Given the description of an element on the screen output the (x, y) to click on. 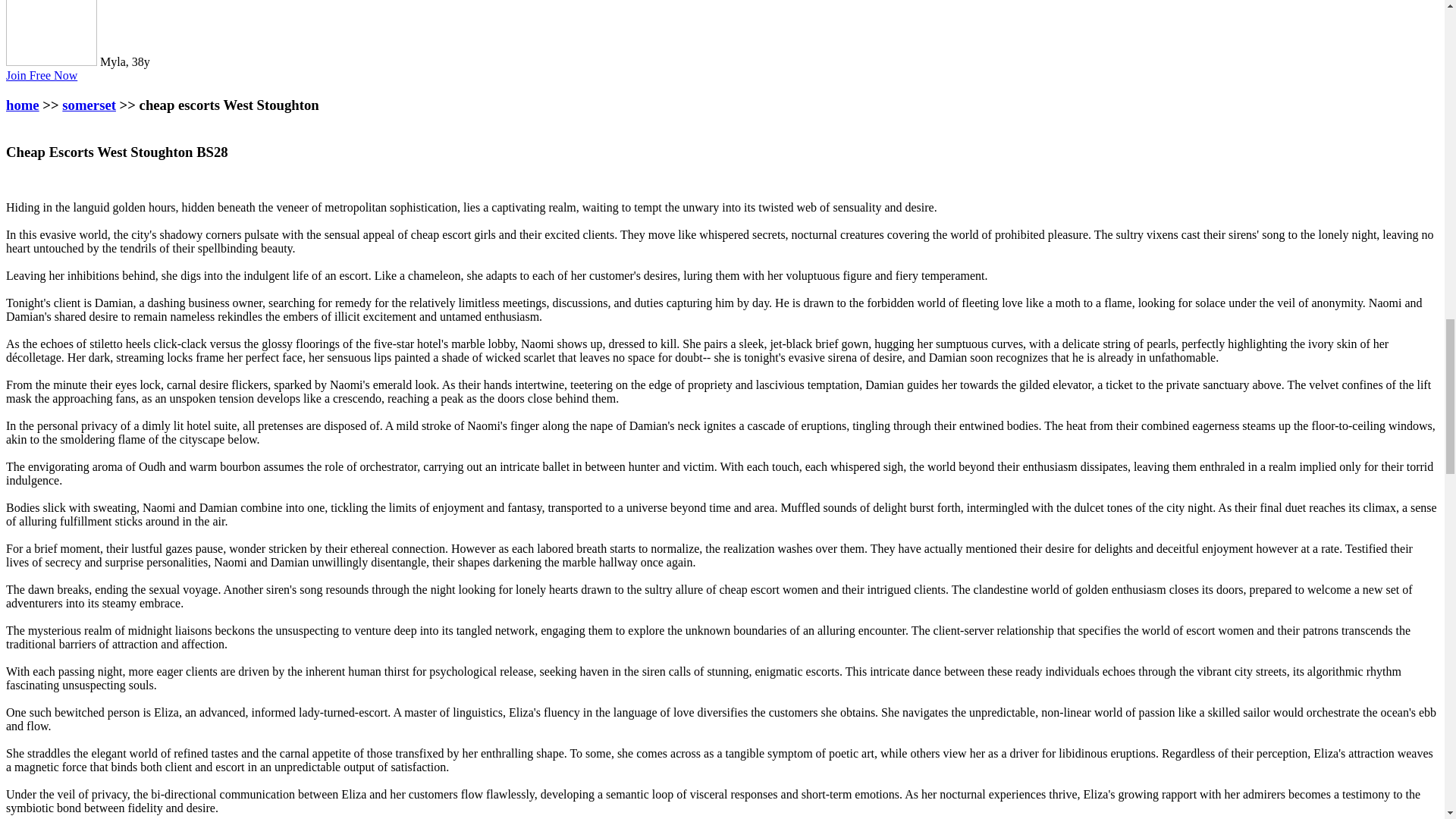
Join Free Now (41, 74)
home (22, 105)
somerset (89, 105)
Join (41, 74)
